Given the description of an element on the screen output the (x, y) to click on. 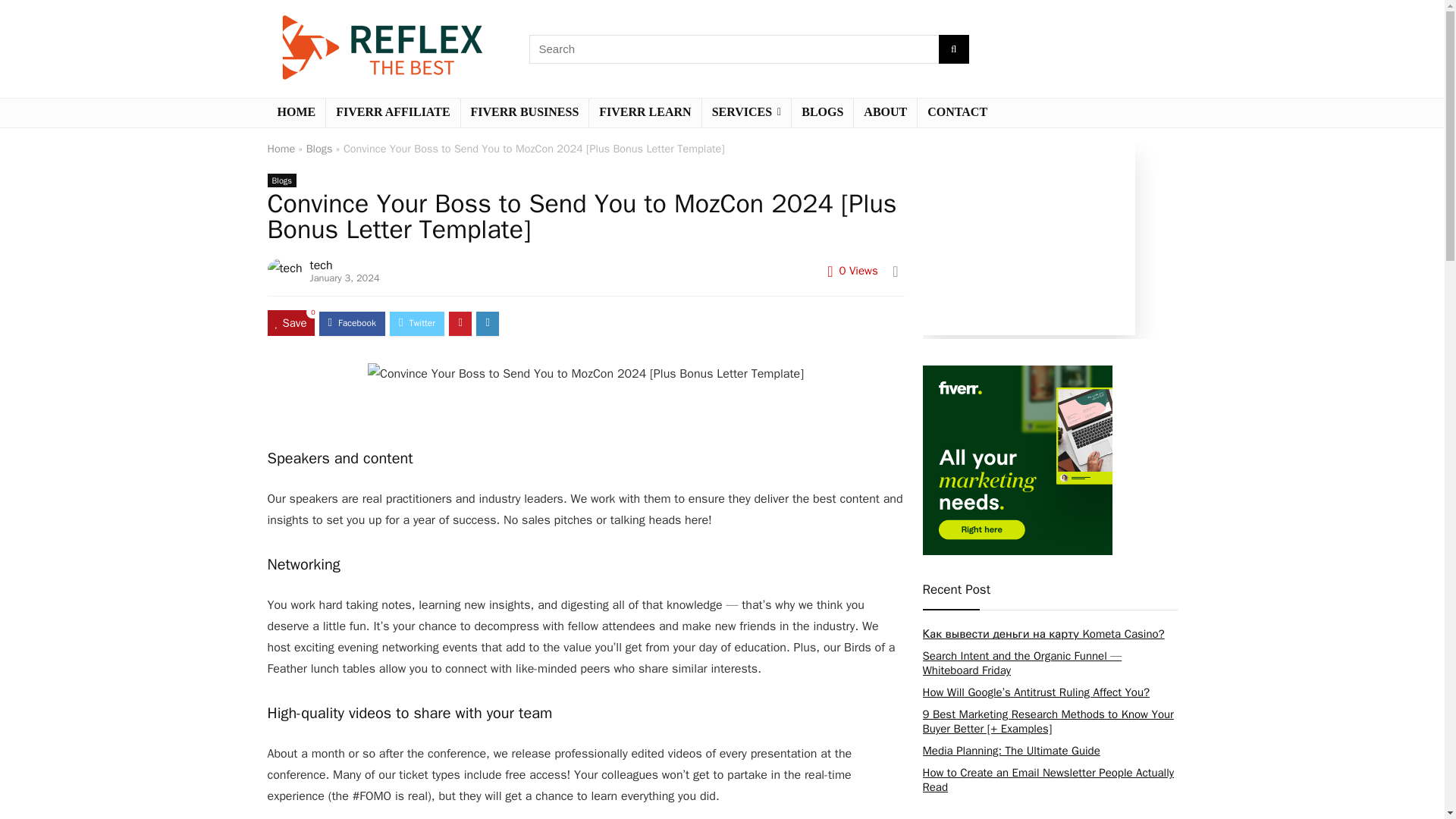
Home (280, 148)
tech (321, 264)
Blogs (281, 180)
ABOUT (885, 112)
SERVICES (746, 112)
View all posts in Blogs (281, 180)
FIVERR BUSINESS (525, 112)
CONTACT (957, 112)
FIVERR LEARN (644, 112)
FIVERR AFFILIATE (393, 112)
